Given the description of an element on the screen output the (x, y) to click on. 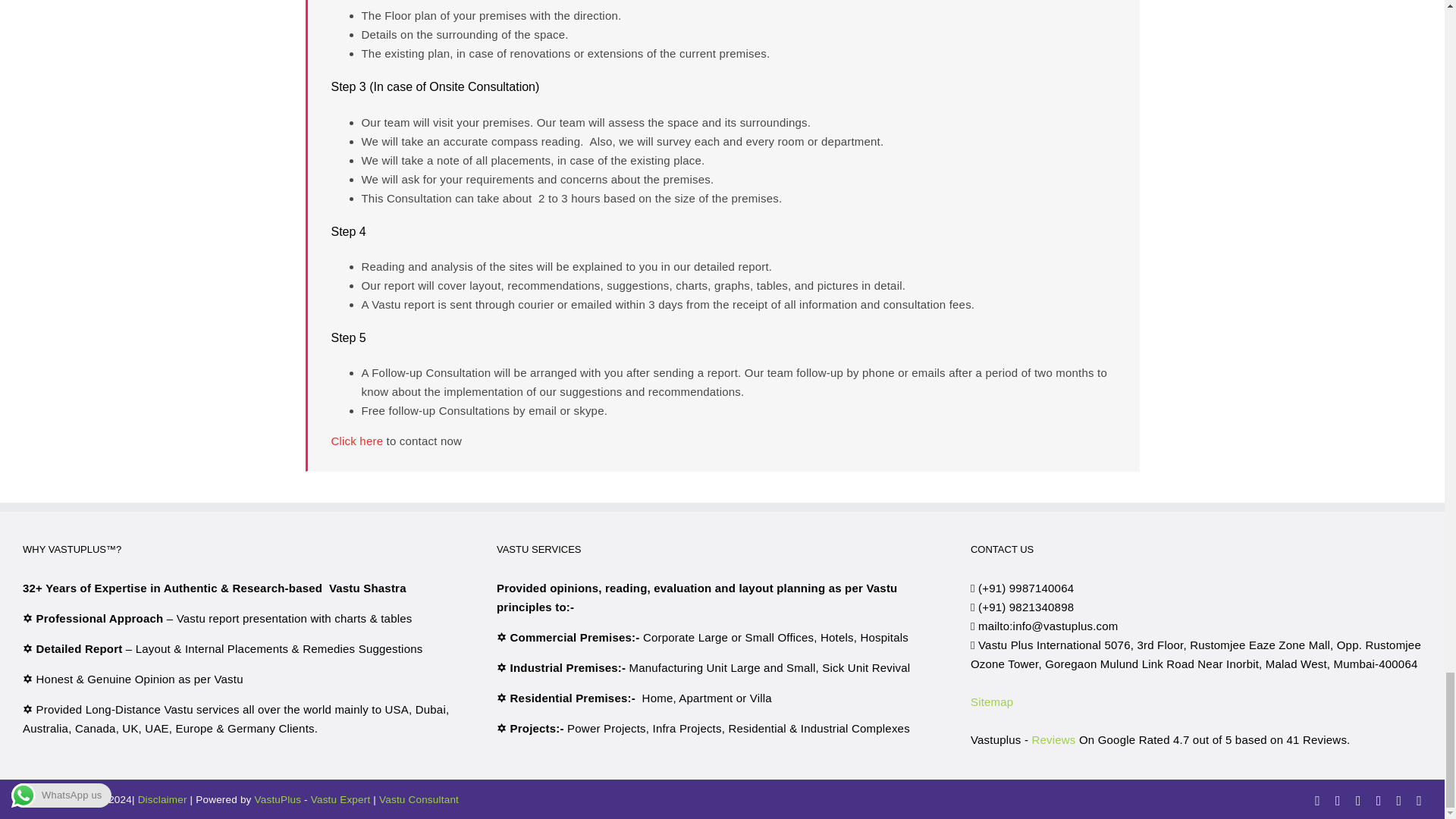
Skype (1378, 800)
X (1337, 800)
Facebook (1317, 800)
LinkedIn (1358, 800)
Instagram (1419, 800)
Pinterest (1398, 800)
